Given the description of an element on the screen output the (x, y) to click on. 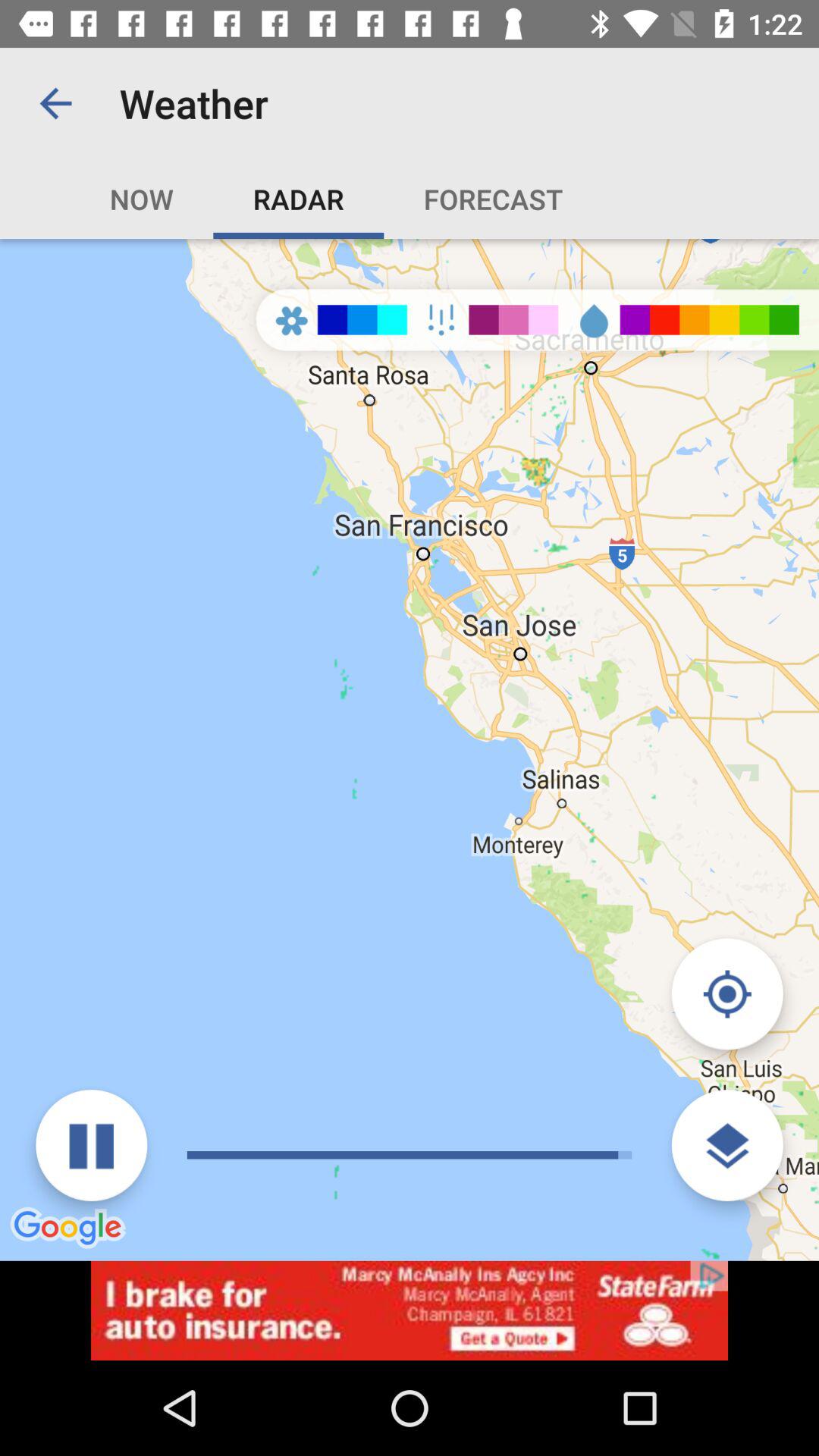
advertisement (409, 1310)
